Given the description of an element on the screen output the (x, y) to click on. 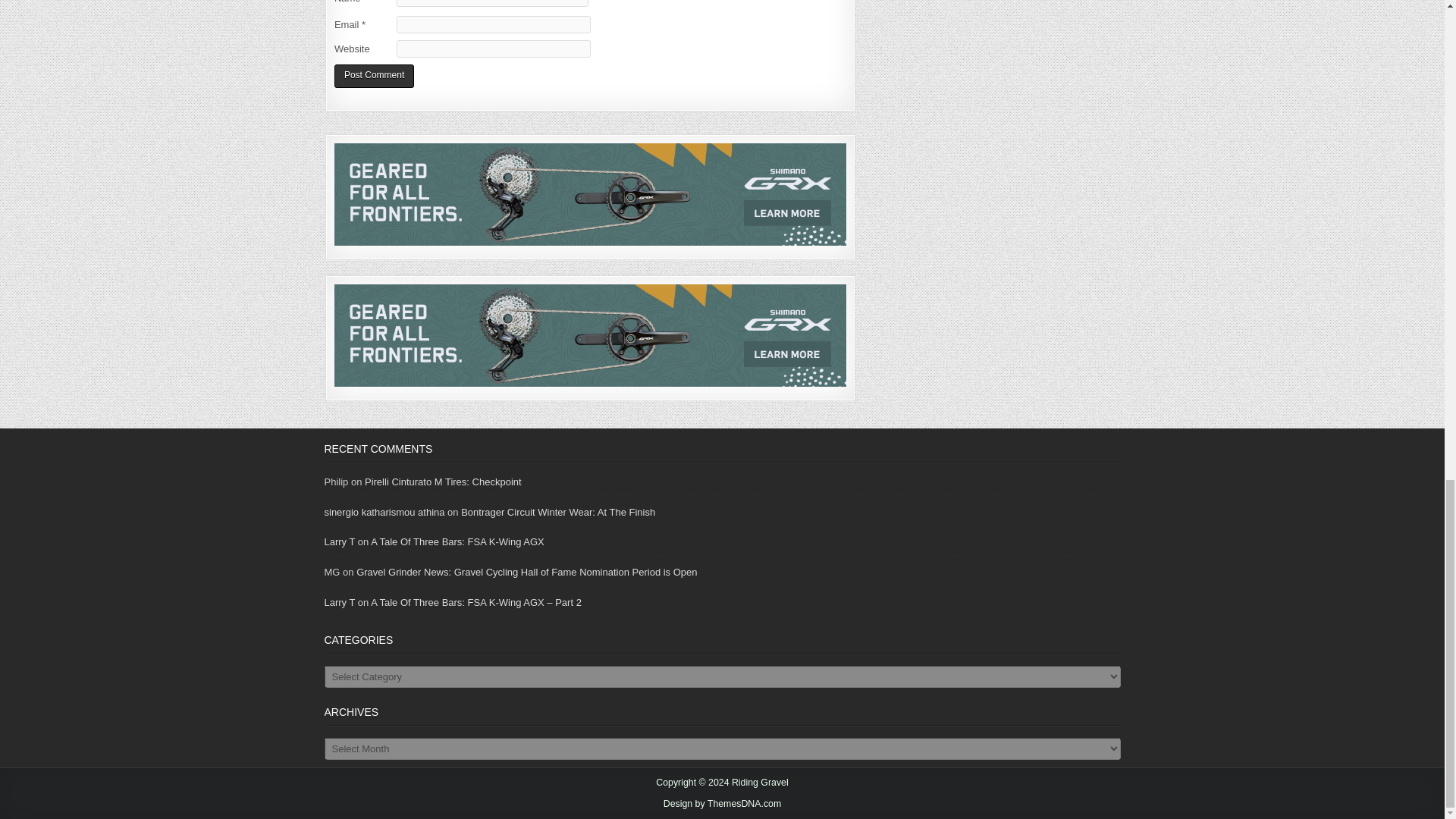
Post Comment (373, 75)
Post Comment (373, 75)
